Given the description of an element on the screen output the (x, y) to click on. 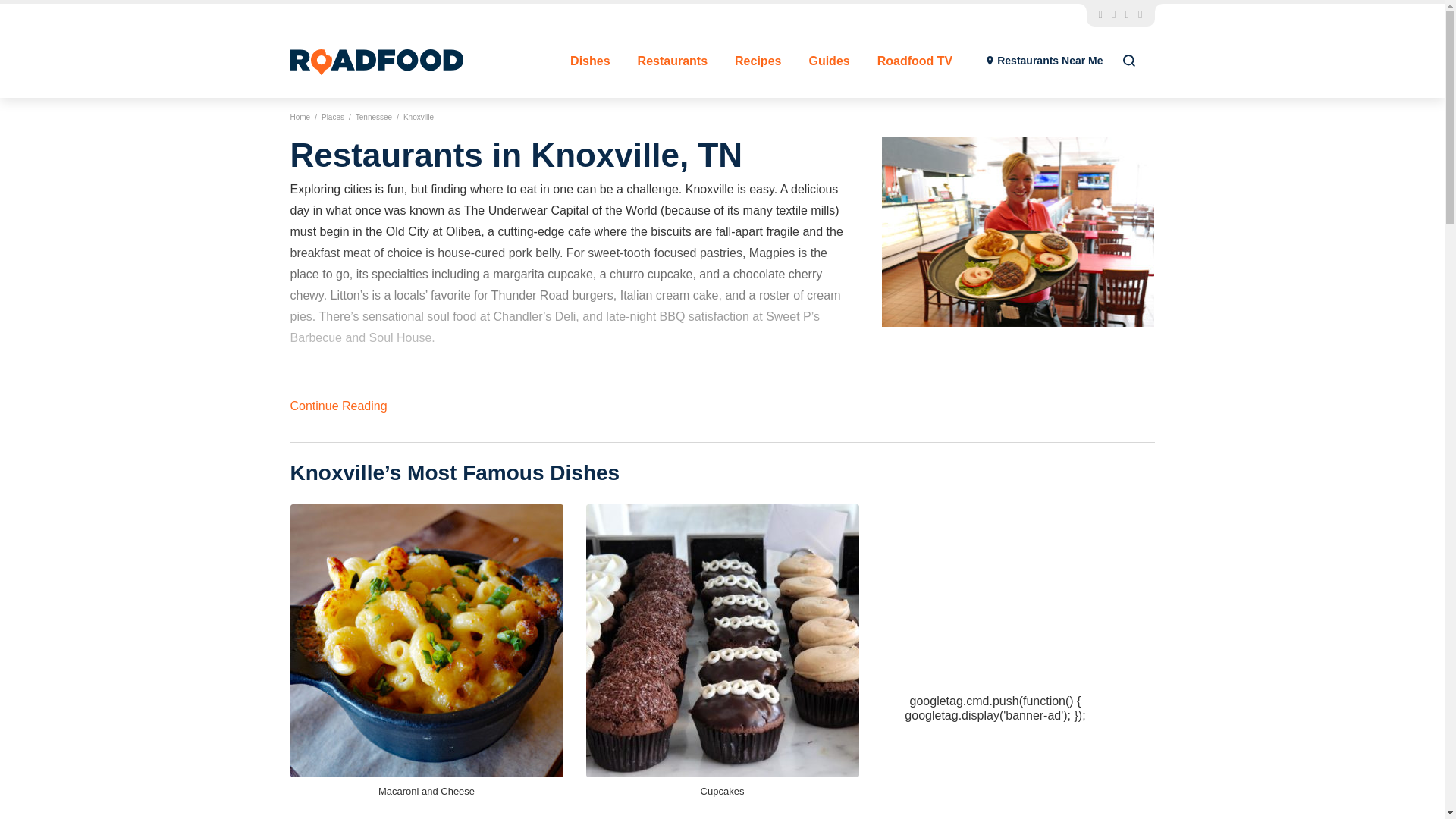
Dishes (590, 60)
Restaurants (672, 60)
Go to Tennessee. (373, 117)
Tennessee (373, 117)
Recipes (757, 60)
Guides (828, 60)
Places (332, 117)
Restaurants Near Me (1044, 60)
Continue Reading (338, 405)
Home (299, 117)
